Given the description of an element on the screen output the (x, y) to click on. 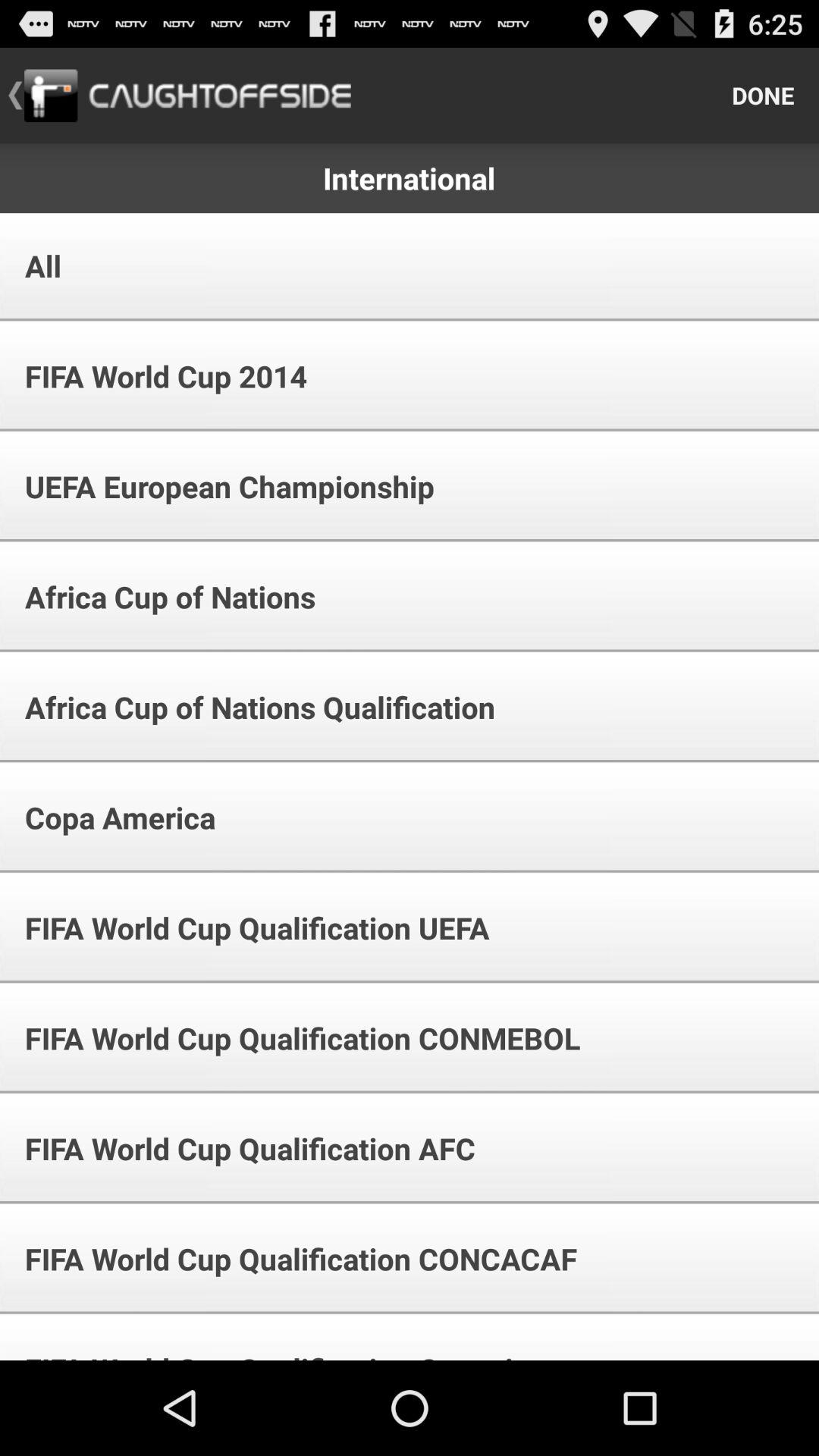
scroll to the copa america item (110, 817)
